Given the description of an element on the screen output the (x, y) to click on. 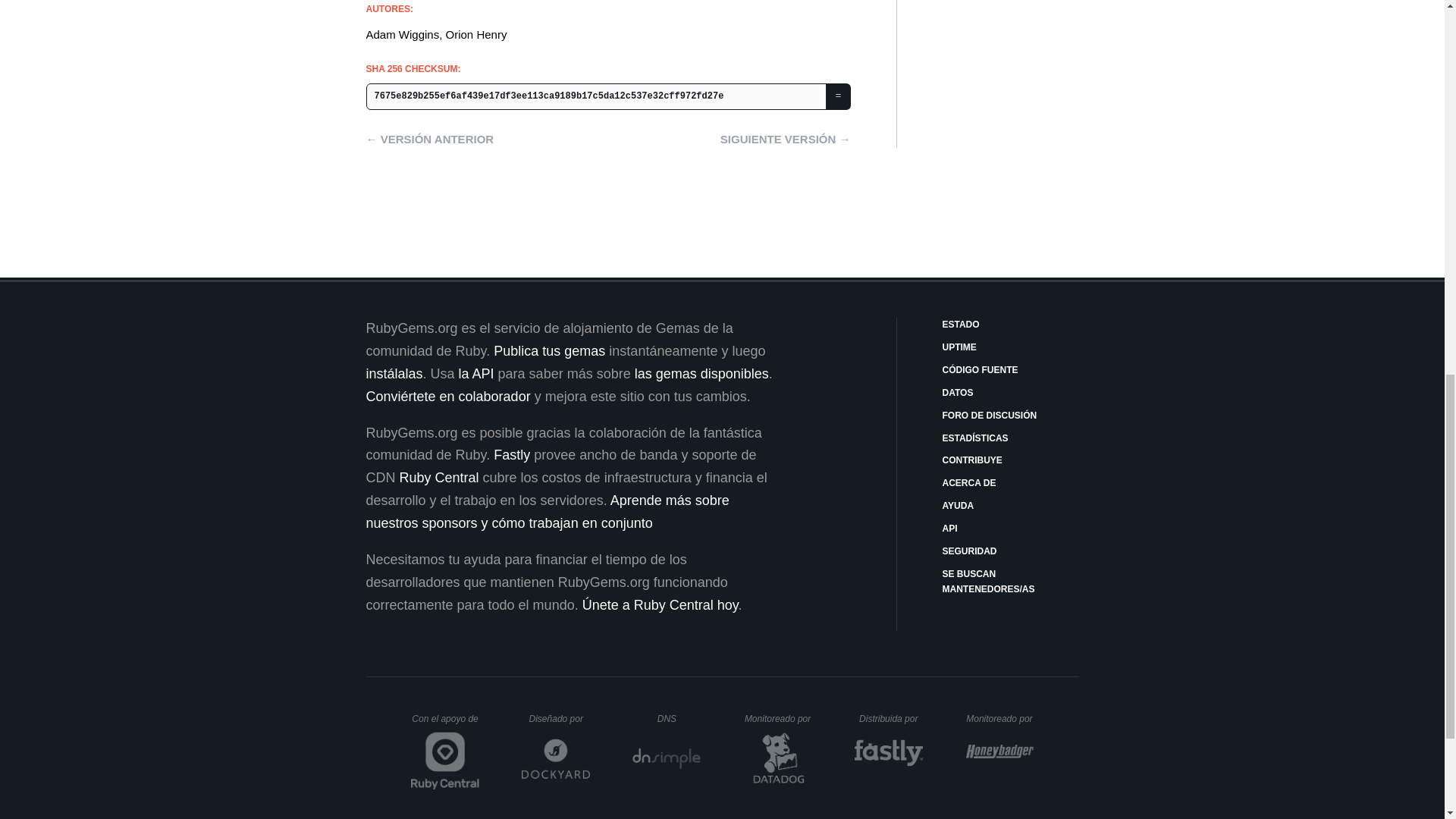
ESTADO (1010, 324)
UPTIME (1010, 347)
